Given the description of an element on the screen output the (x, y) to click on. 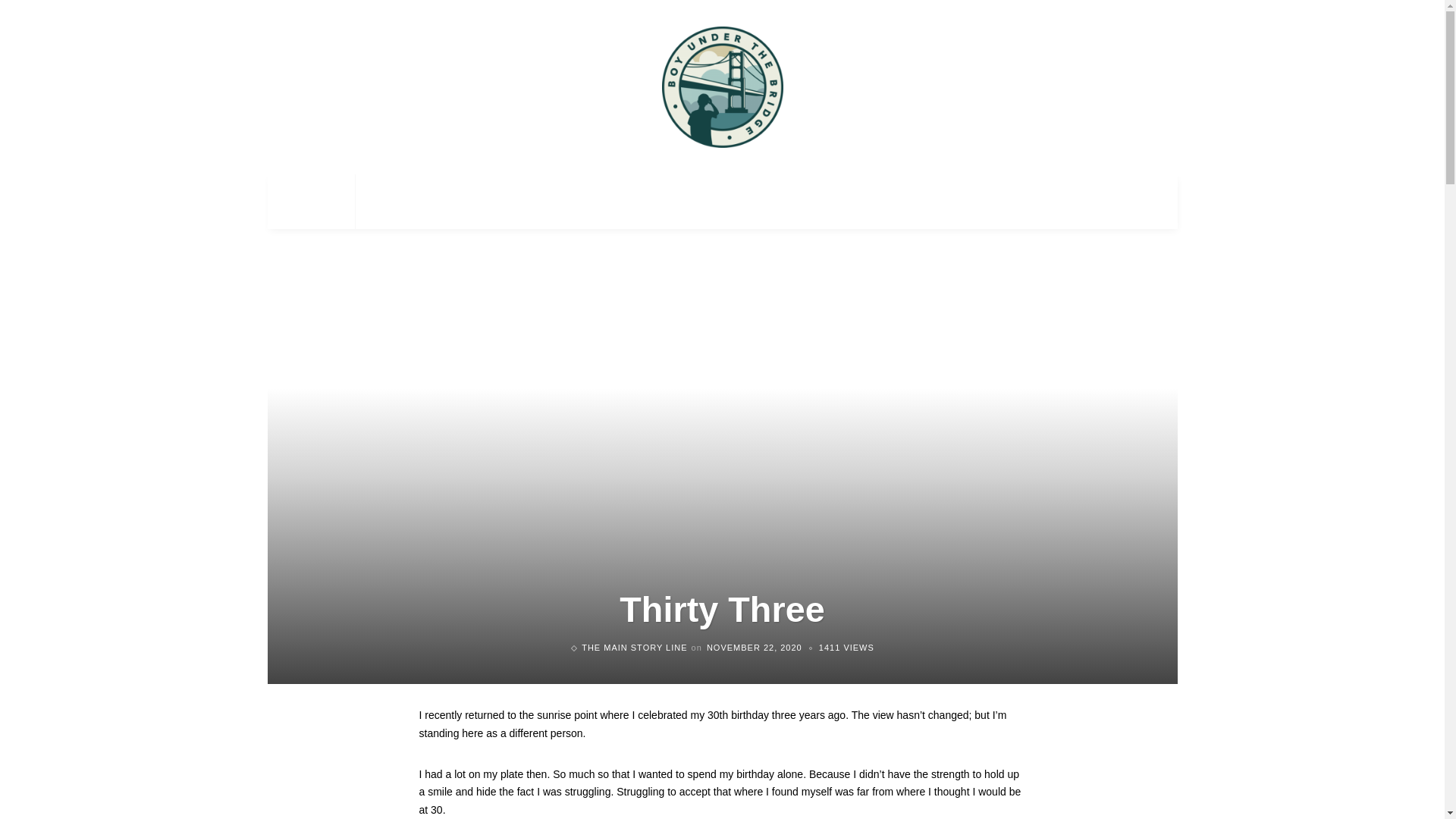
1411 VIEWS (846, 646)
MEDIA APPEARANCES (643, 201)
ABOUT (325, 201)
Thirty Three (846, 646)
BLOG (483, 201)
COUNSELLING (406, 201)
The main story line (633, 646)
VIDEOS (543, 201)
THE MAIN STORY LINE (633, 646)
Boy Under the Bridge (722, 86)
